Given the description of an element on the screen output the (x, y) to click on. 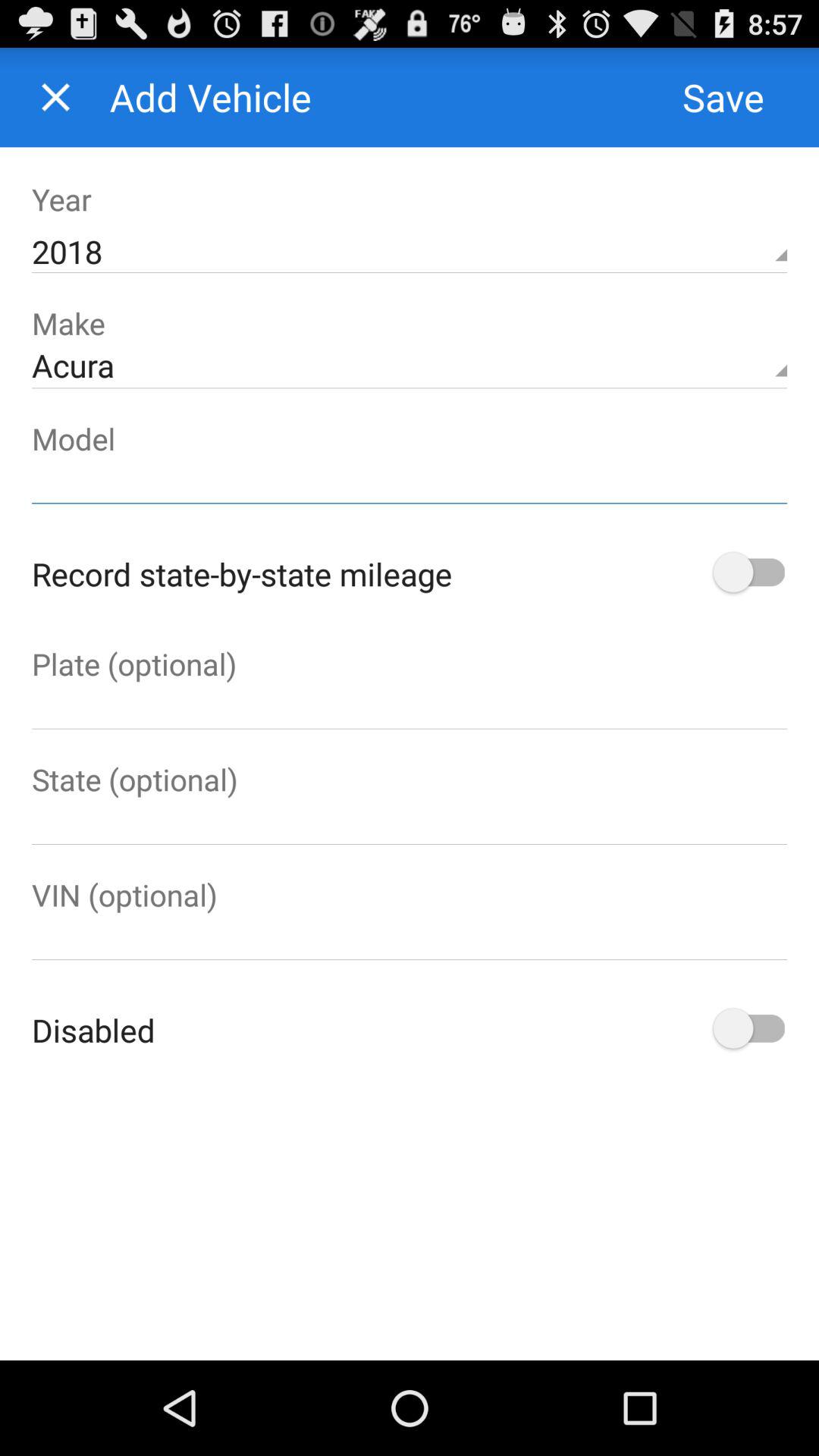
enter vin (409, 937)
